Given the description of an element on the screen output the (x, y) to click on. 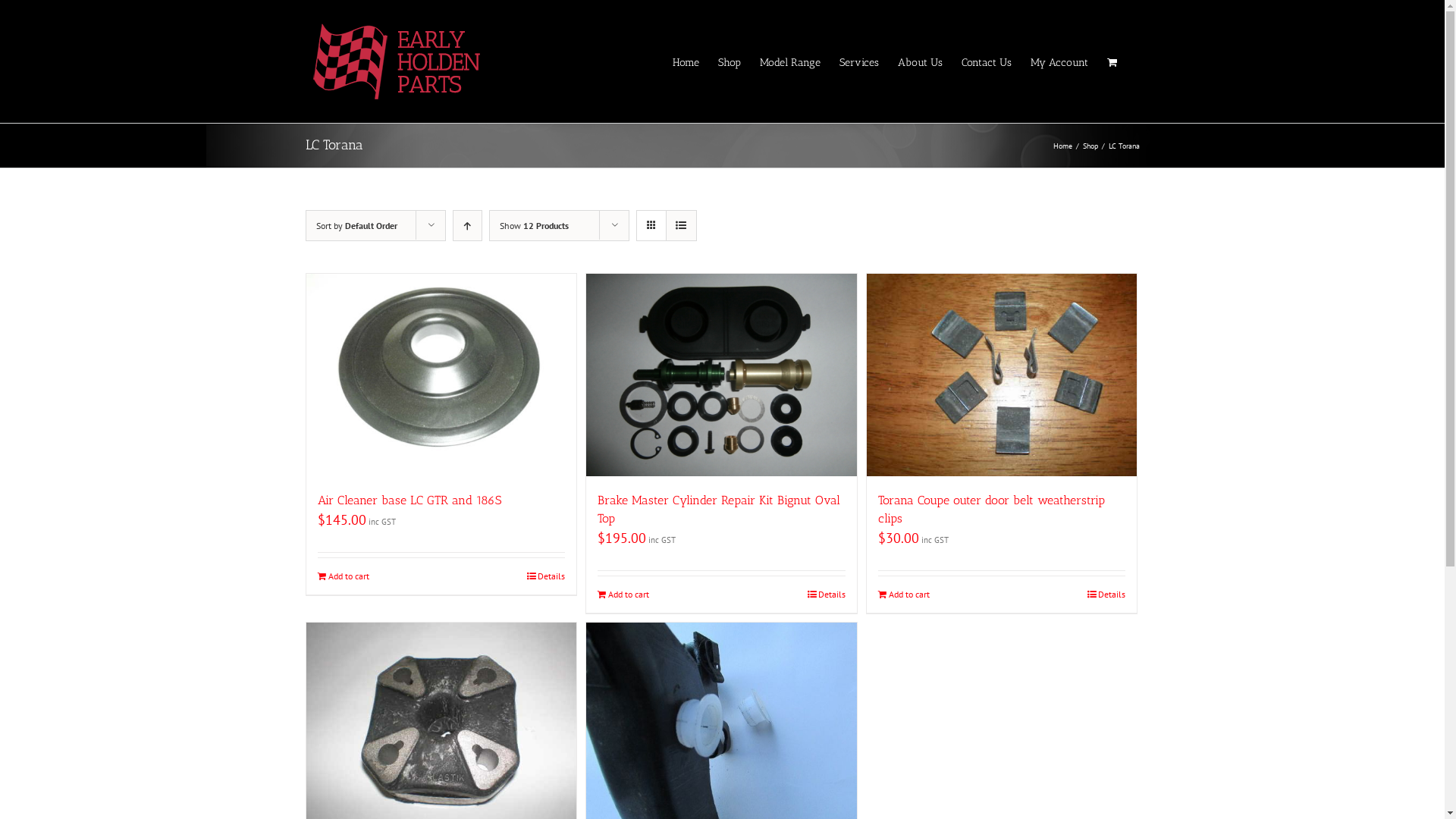
Home Element type: text (1061, 145)
Home Element type: text (684, 61)
Brake Master Cylinder Repair Kit Bignut Oval Top Element type: text (718, 508)
Shop Element type: text (728, 61)
Add to cart Element type: text (342, 576)
Sort by Default Order Element type: text (355, 225)
About Us Element type: text (919, 61)
Model Range Element type: text (789, 61)
Details Element type: text (1106, 594)
My Account Element type: text (1058, 61)
Add to cart Element type: text (623, 594)
Contact Us Element type: text (986, 61)
Shop Element type: text (1090, 145)
Air Cleaner base LC GTR and 186S Element type: text (408, 499)
Details Element type: text (545, 576)
Log In Element type: text (1127, 234)
Services Element type: text (858, 61)
Add to cart Element type: text (903, 594)
Details Element type: text (826, 594)
Torana Coupe outer door belt weatherstrip clips Element type: text (991, 508)
Show 12 Products Element type: text (532, 225)
